Given the description of an element on the screen output the (x, y) to click on. 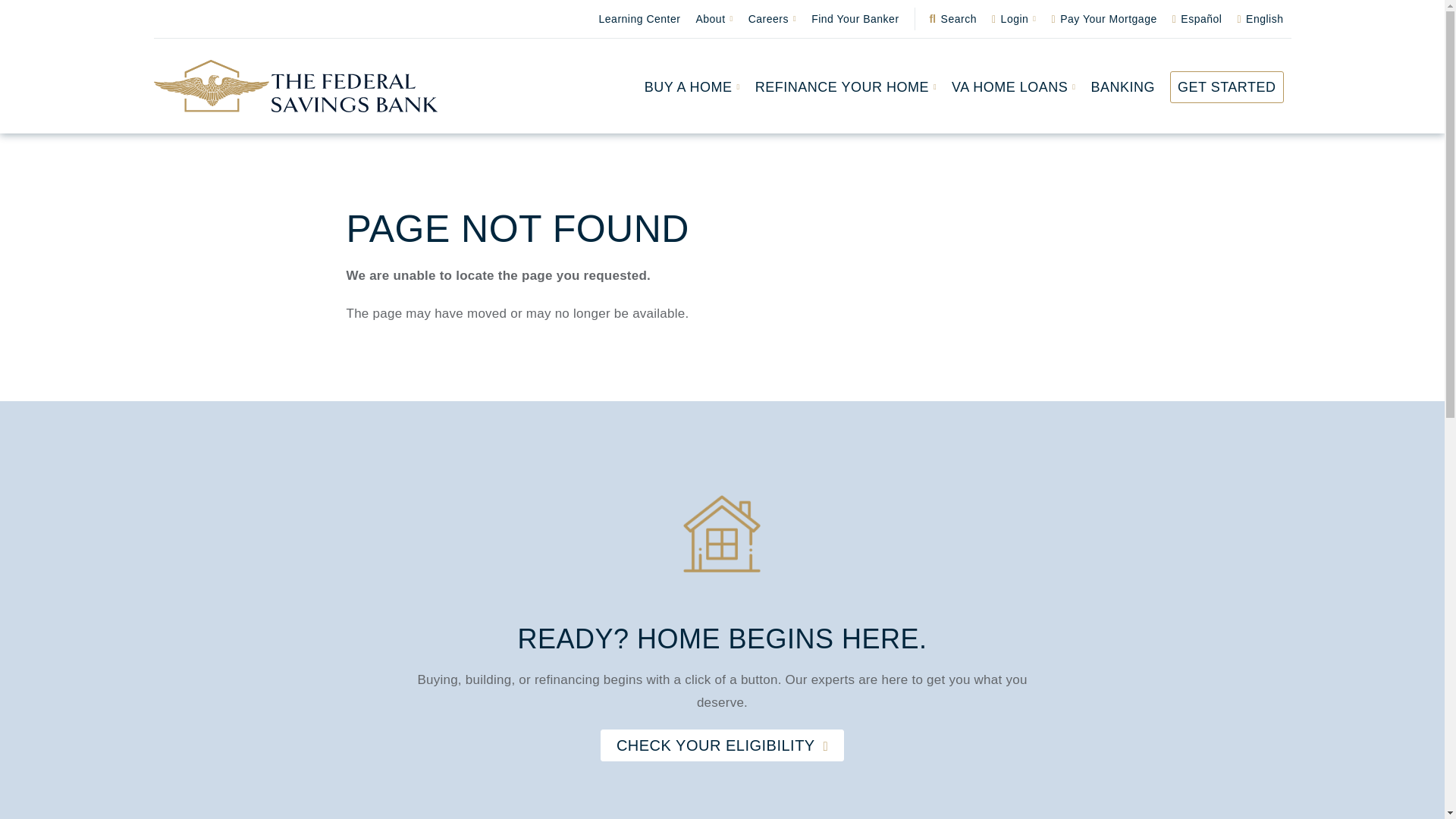
Search (952, 18)
Pay Your Mortgage (1103, 18)
VA HOME LOANS (1013, 85)
Learning Center (639, 18)
Find Your Banker (854, 18)
Home (295, 86)
REFINANCE YOUR HOME (845, 85)
Careers (772, 18)
Login (1013, 18)
English (1259, 18)
About (713, 18)
BUY A HOME (692, 85)
